Given the description of an element on the screen output the (x, y) to click on. 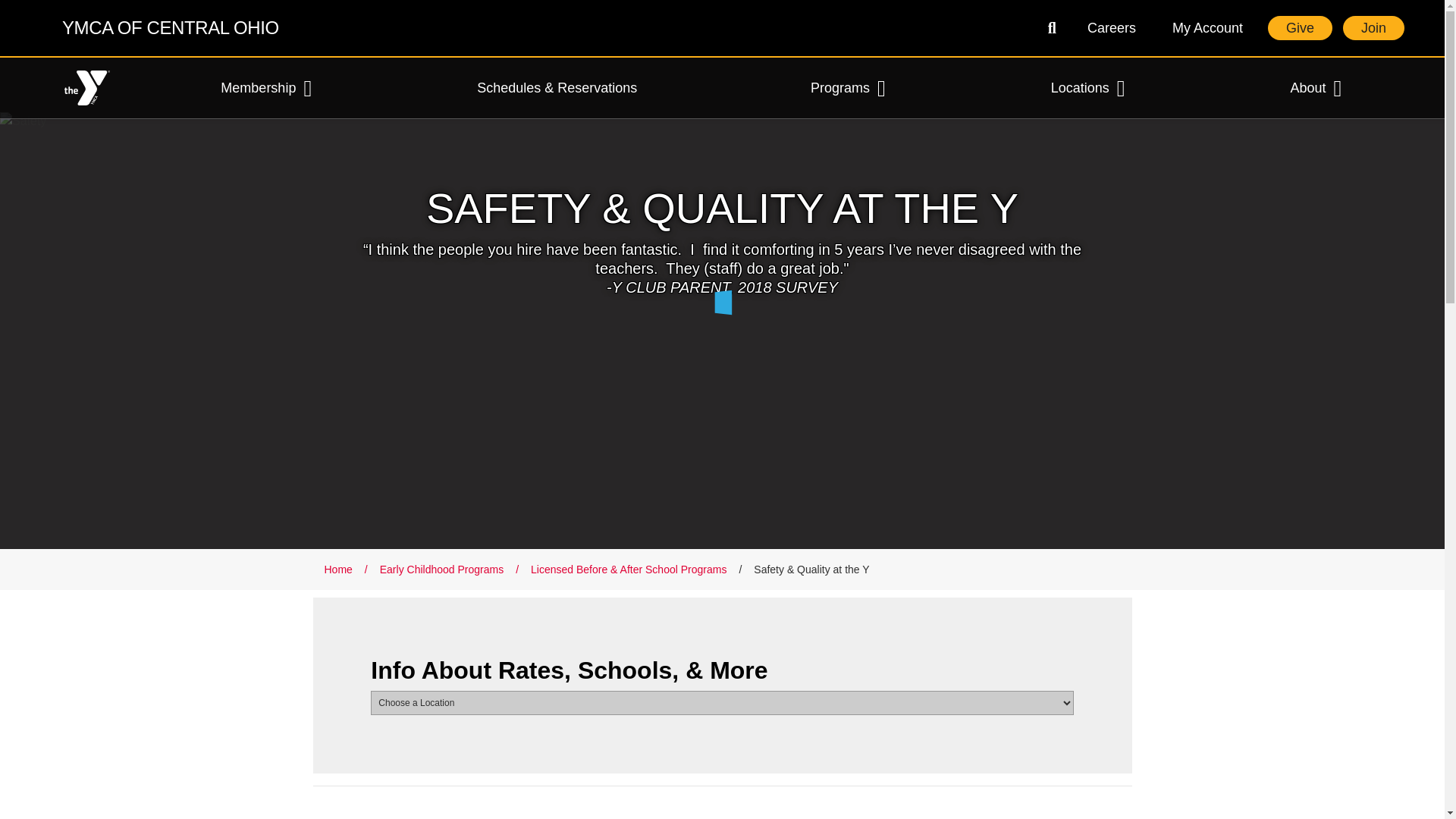
My Account (1207, 27)
YMCA OF CENTRAL OHIO (397, 28)
Careers (1111, 27)
